Given the description of an element on the screen output the (x, y) to click on. 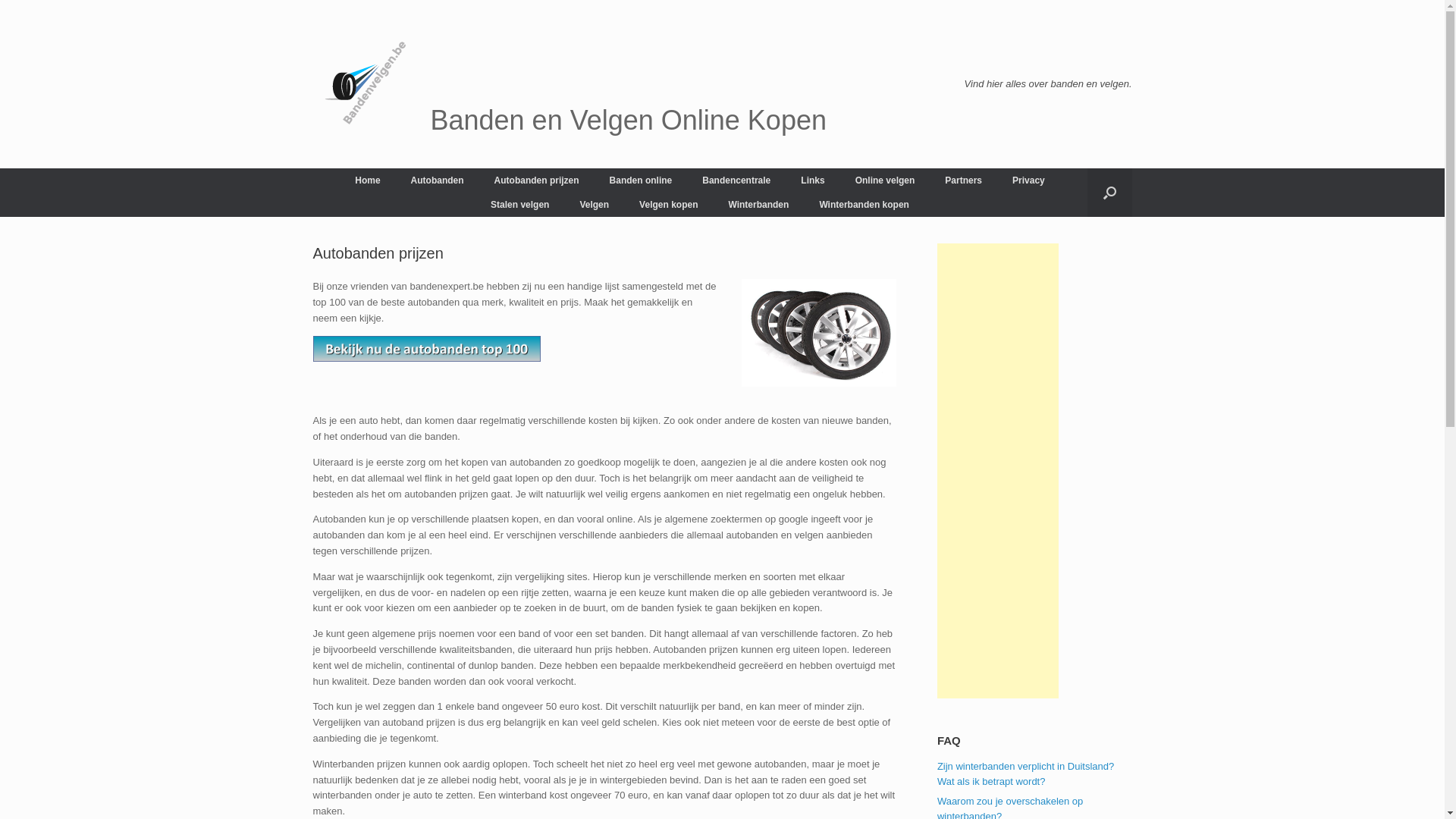
Links Element type: text (812, 180)
Autobanden prijzen Element type: text (536, 180)
Velgen kopen Element type: text (668, 204)
Home Element type: text (367, 180)
Autobanden Element type: text (437, 180)
Winterbanden kopen Element type: text (863, 204)
Privacy Element type: text (1028, 180)
Advertisement Element type: hover (997, 470)
Velgen Element type: text (594, 204)
Partners Element type: text (963, 180)
Stalen velgen Element type: text (519, 204)
Winterbanden Element type: text (757, 204)
Online velgen Element type: text (885, 180)
Banden online Element type: text (640, 180)
Bandencentrale Element type: text (736, 180)
Banden en Velgen Online Kopen Element type: text (568, 84)
